Given the description of an element on the screen output the (x, y) to click on. 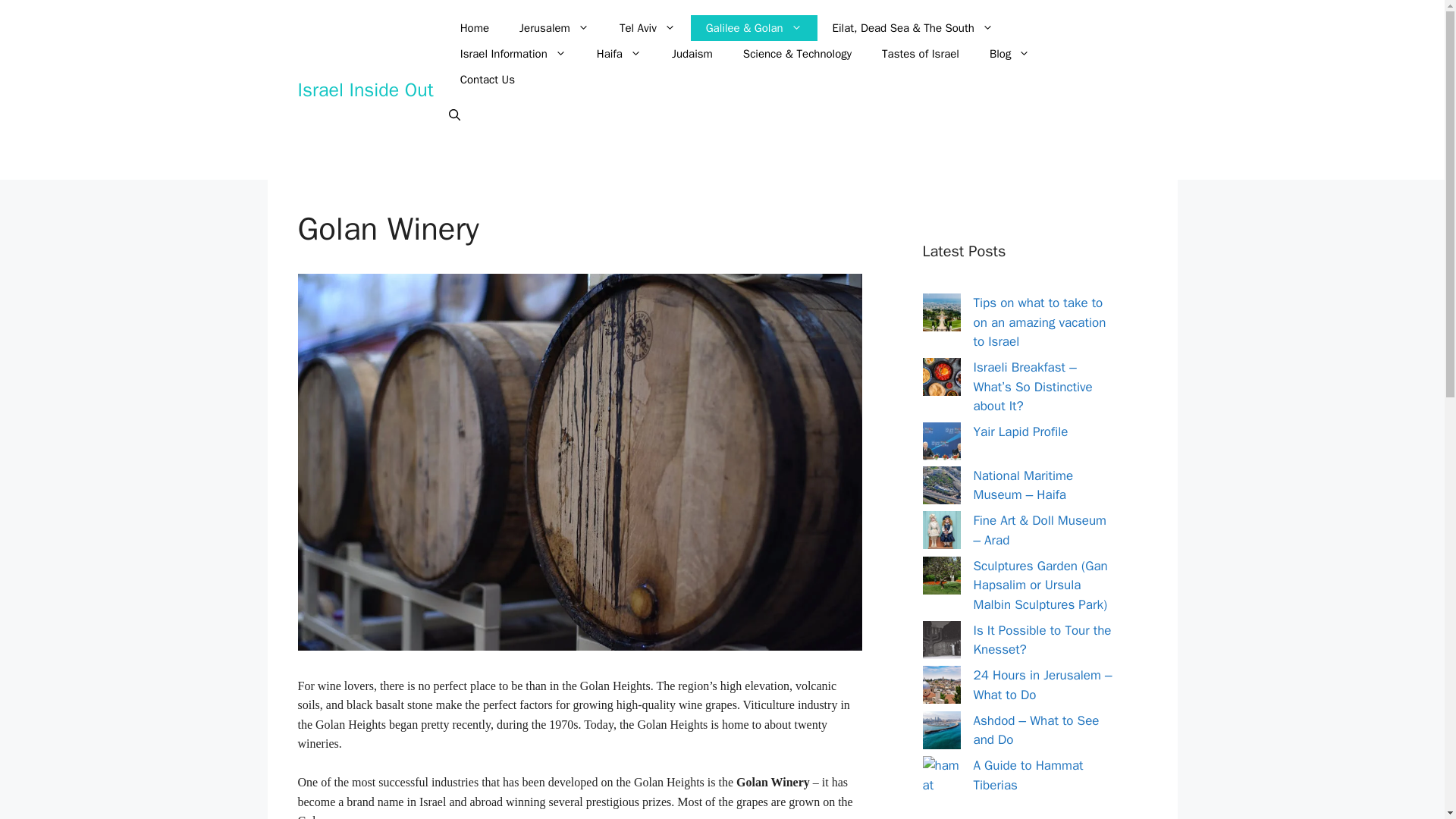
Jerusalem (553, 27)
Haifa (618, 53)
Blog (1009, 53)
Home (474, 27)
Tastes of Israel (920, 53)
Israel Inside Out (364, 88)
Israel Information (512, 53)
Judaism (692, 53)
Tel Aviv (647, 27)
